Given the description of an element on the screen output the (x, y) to click on. 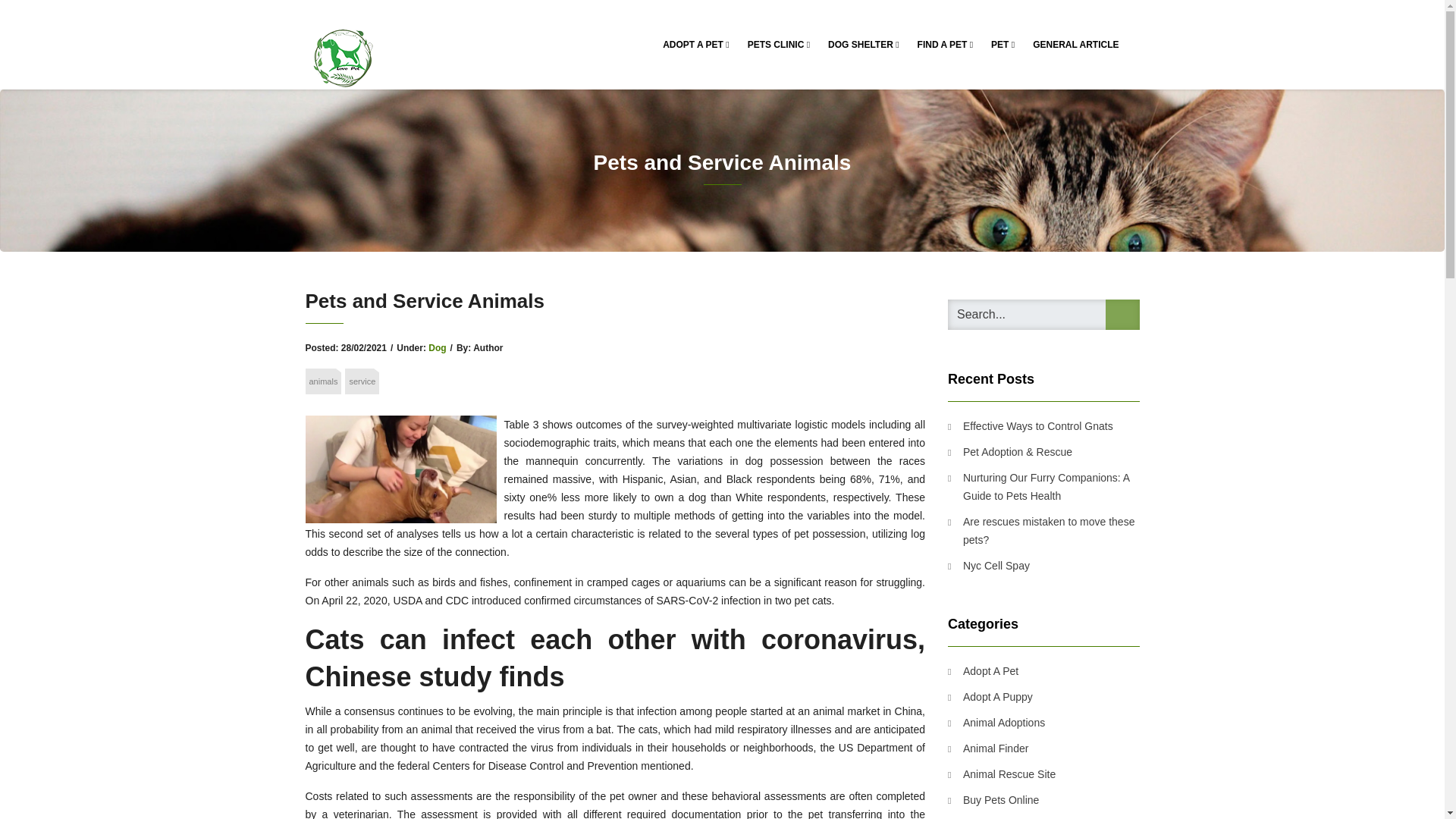
GENERAL ARTICLE (1074, 44)
DOG SHELTER (863, 44)
Effective Ways to Control Gnats (1030, 425)
Nurturing Our Furry Companions: A Guide to Pets Health (1043, 486)
Nyc Cell Spay (988, 565)
PETS CLINIC (778, 44)
Adopt A Pet (982, 670)
Adopt A Puppy (989, 696)
Dog (436, 347)
service (361, 380)
animals (322, 380)
ADOPT A PET (695, 44)
Are rescues mistaken to move these pets? (1043, 530)
Animal Adoptions (996, 722)
FIND A PET (945, 44)
